Given the description of an element on the screen output the (x, y) to click on. 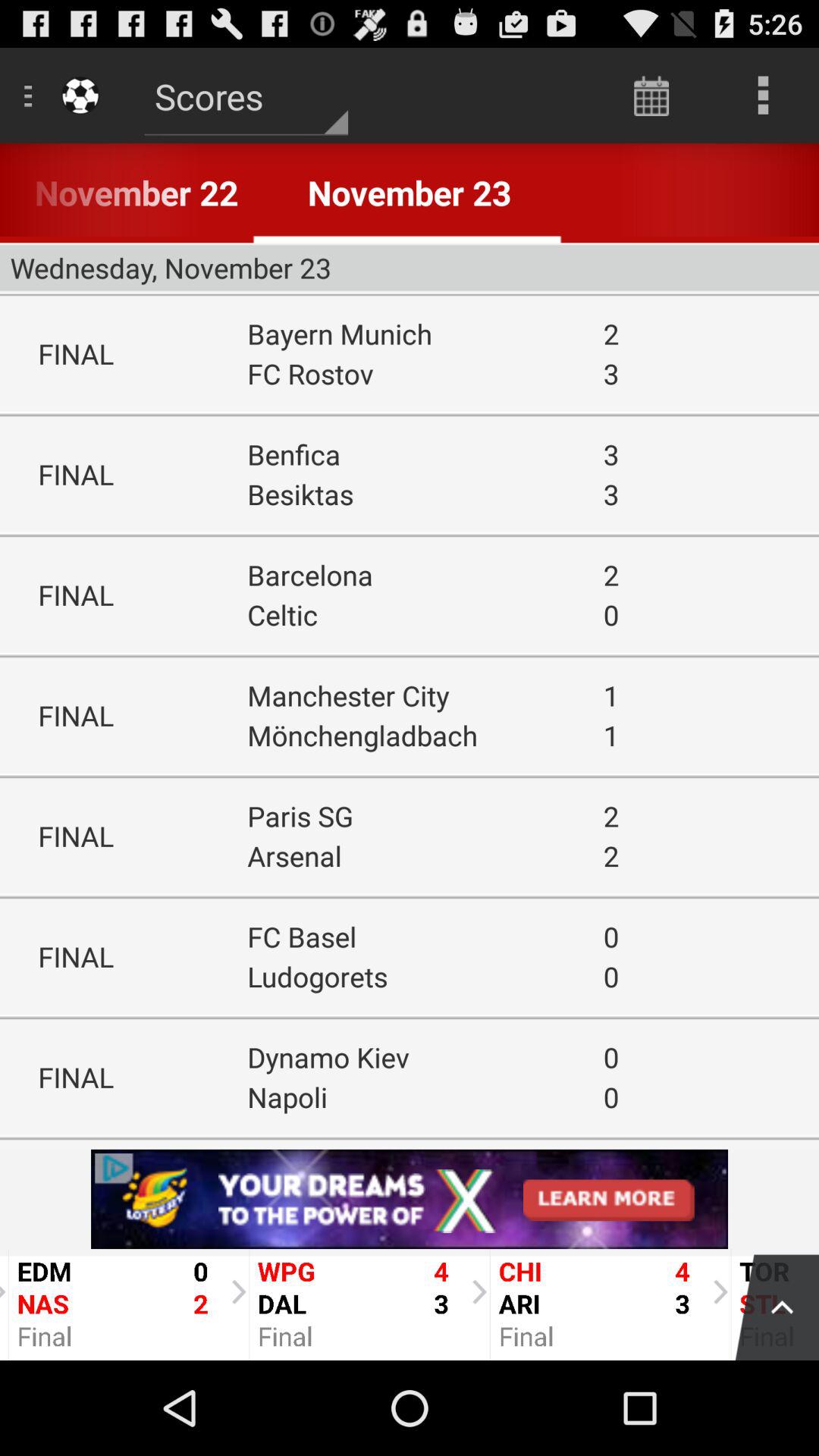
open calendar (651, 95)
